Given the description of an element on the screen output the (x, y) to click on. 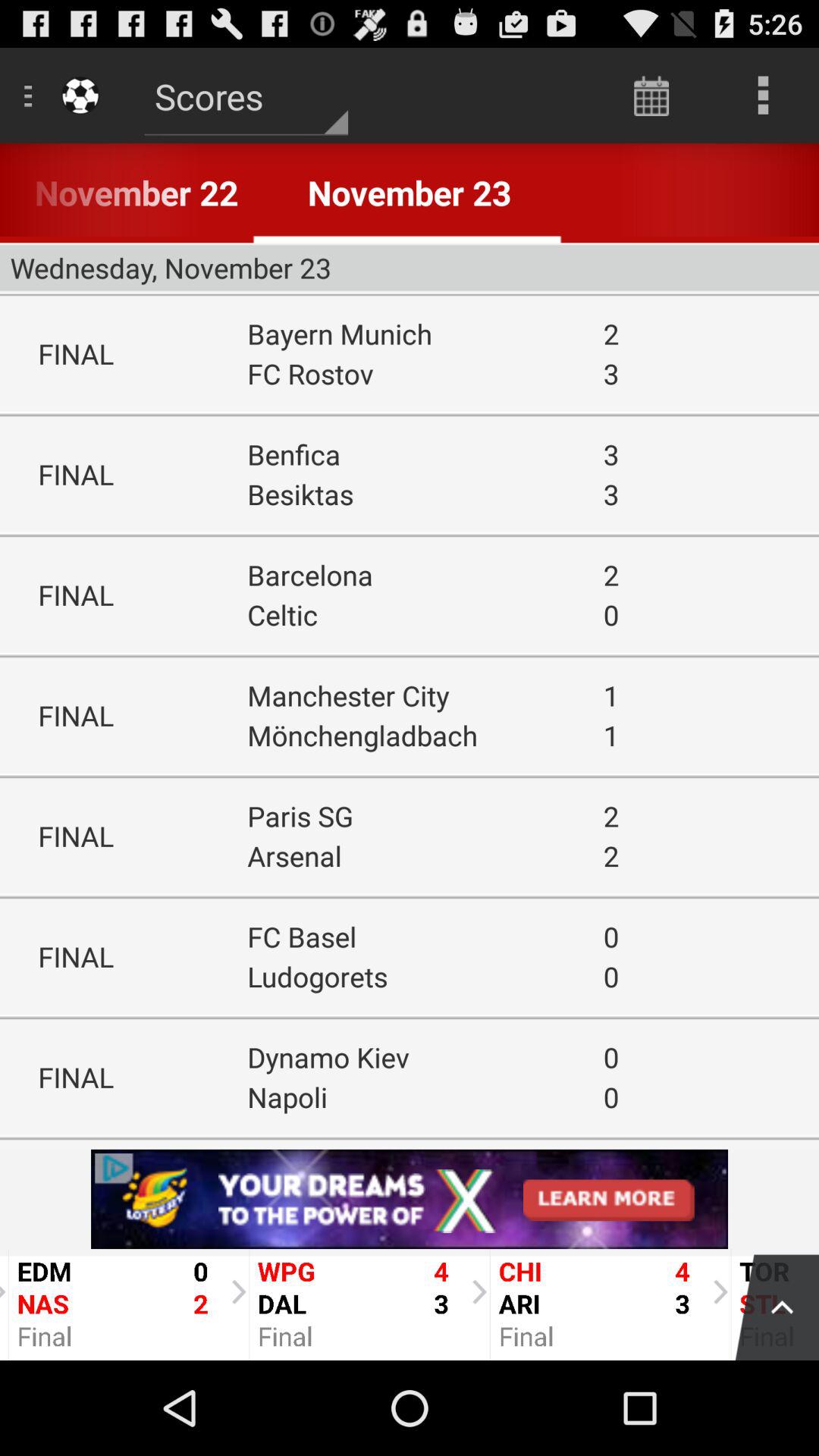
open calendar (651, 95)
